Given the description of an element on the screen output the (x, y) to click on. 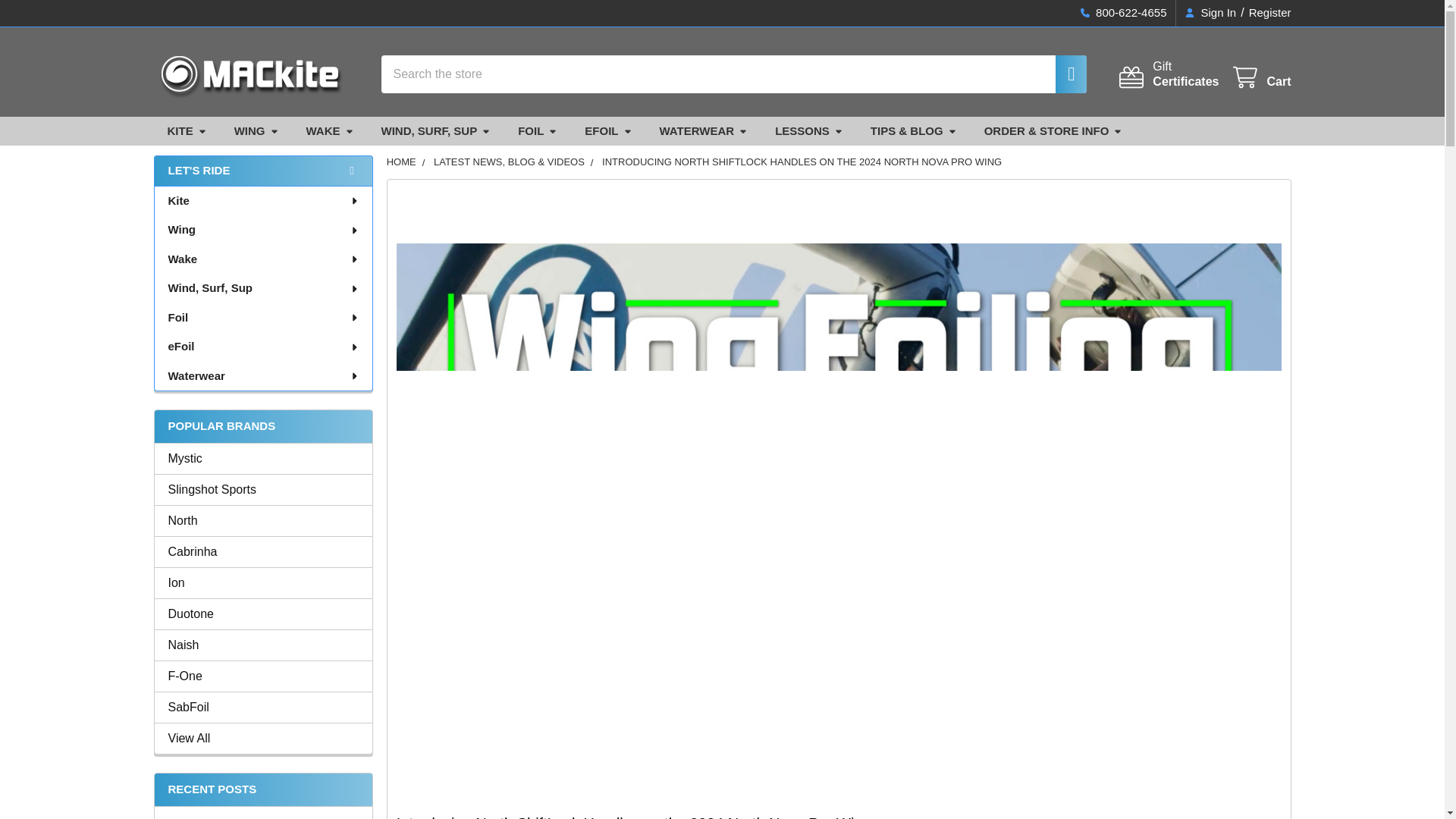
Slingshot Sports (263, 489)
Gift Certificates (1167, 73)
800-622-4655 (1122, 13)
SabFoil (263, 707)
Cart (1260, 77)
F-One (263, 676)
Mystic (1167, 73)
Sign In (263, 458)
Ion (1210, 13)
Search (263, 583)
MACkite Boardsports Center (1062, 74)
Duotone (247, 74)
Cabrinha (263, 614)
KITE (263, 551)
